Given the description of an element on the screen output the (x, y) to click on. 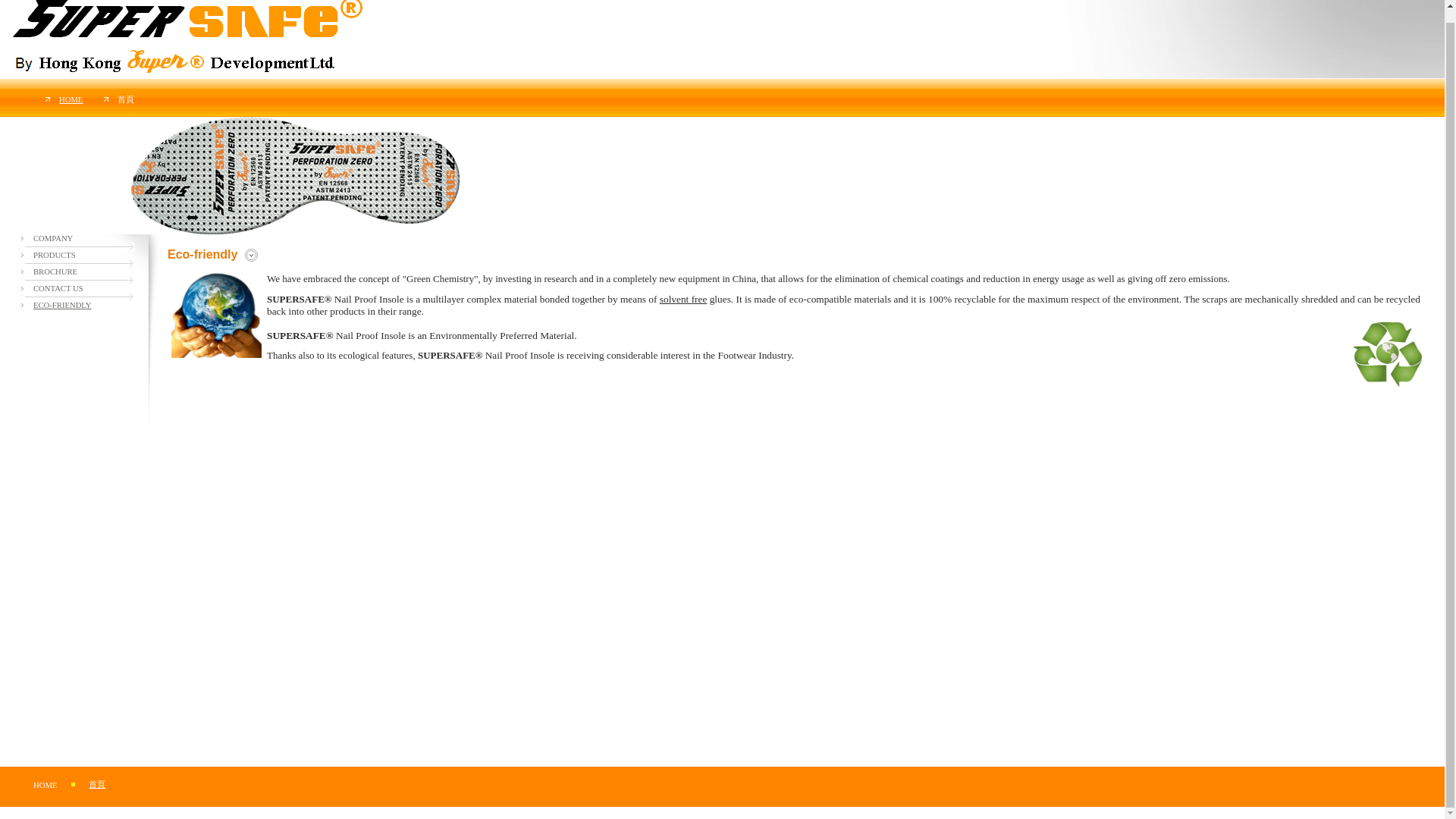
COMPANY (52, 238)
BROCHURE (55, 271)
PRODUCTS (54, 254)
CONTACT US (57, 288)
HOME (44, 785)
HOME (71, 99)
